Given the description of an element on the screen output the (x, y) to click on. 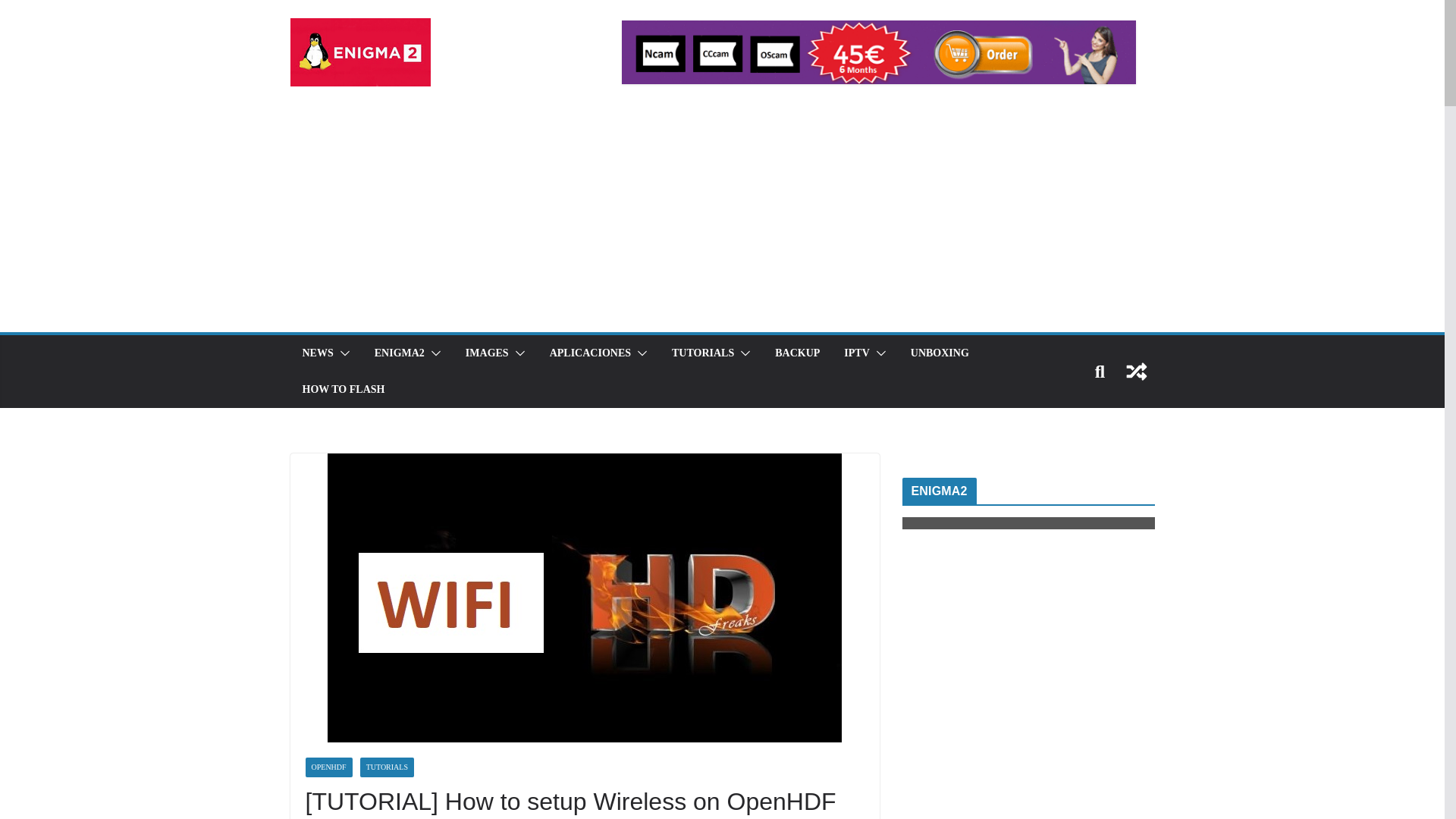
NEWS (317, 353)
View a random post (1136, 370)
IMAGES (486, 353)
ENIGMA2 (399, 353)
